Given the description of an element on the screen output the (x, y) to click on. 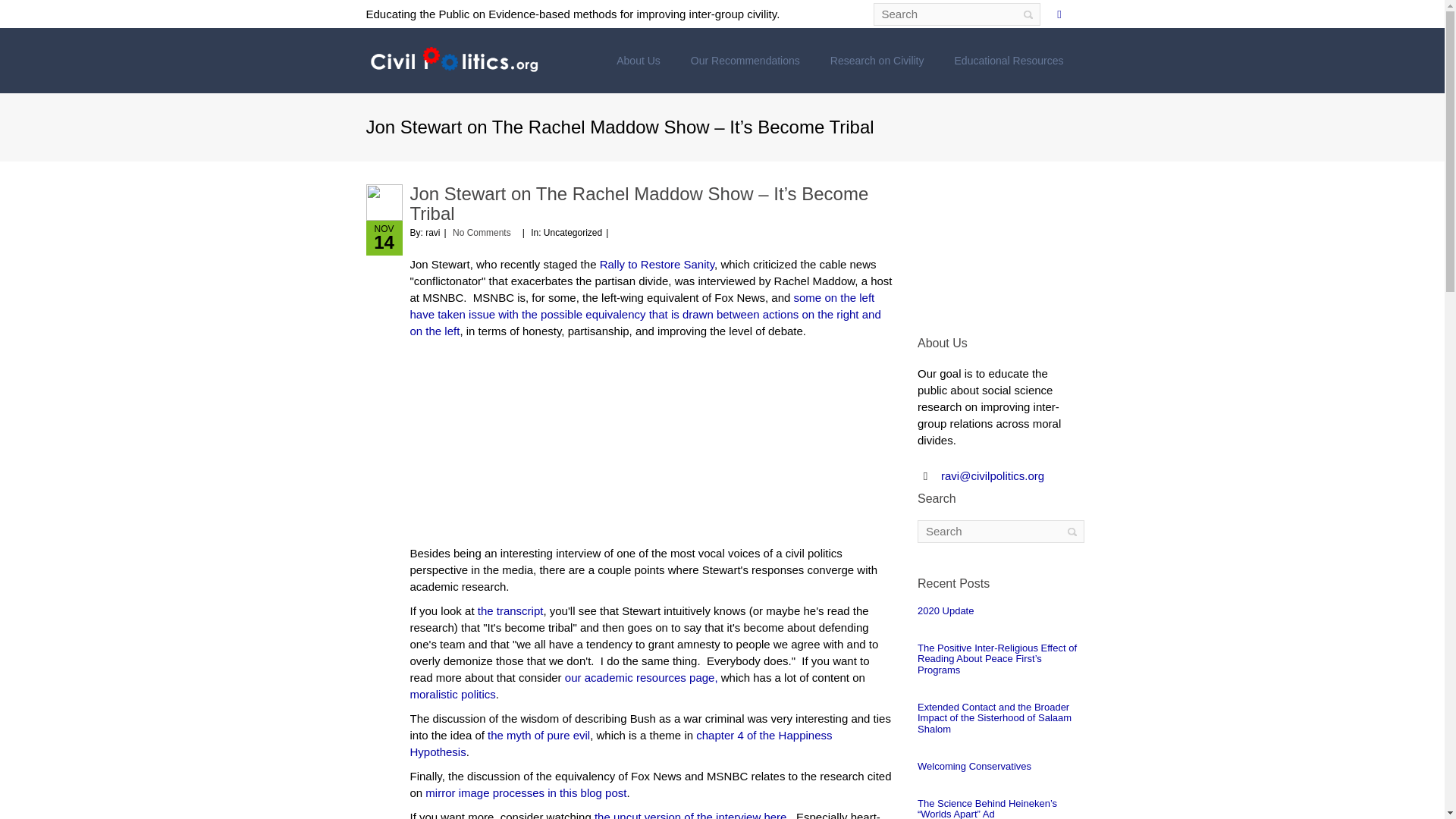
Educational Resources (1008, 60)
About Us (638, 60)
Our Recommendations (745, 60)
Research on Civility (877, 60)
About Us (638, 60)
Research on Civility (877, 60)
